Given the description of an element on the screen output the (x, y) to click on. 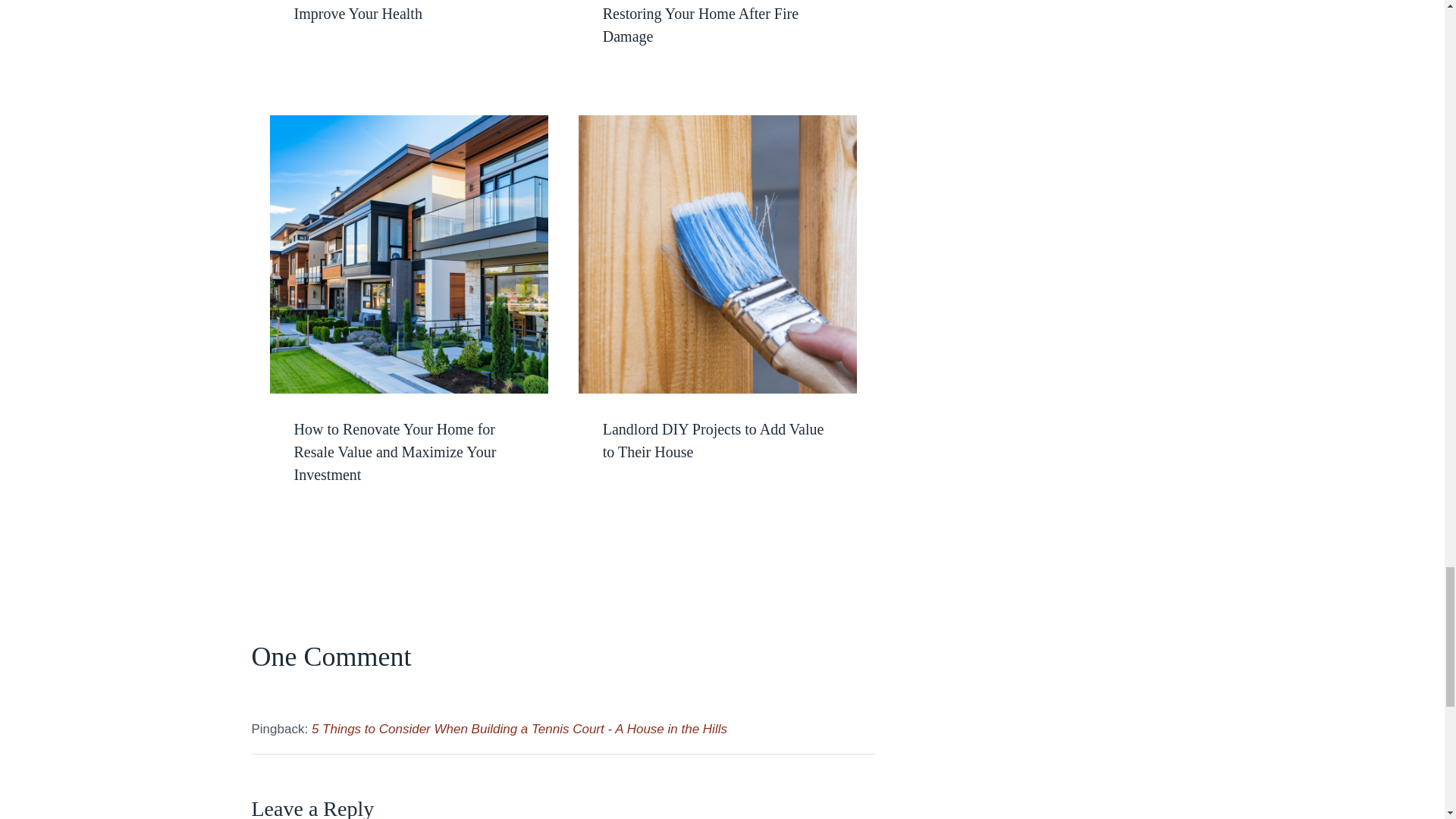
8 Home Improvements That Will Improve Your Health (394, 11)
